Given the description of an element on the screen output the (x, y) to click on. 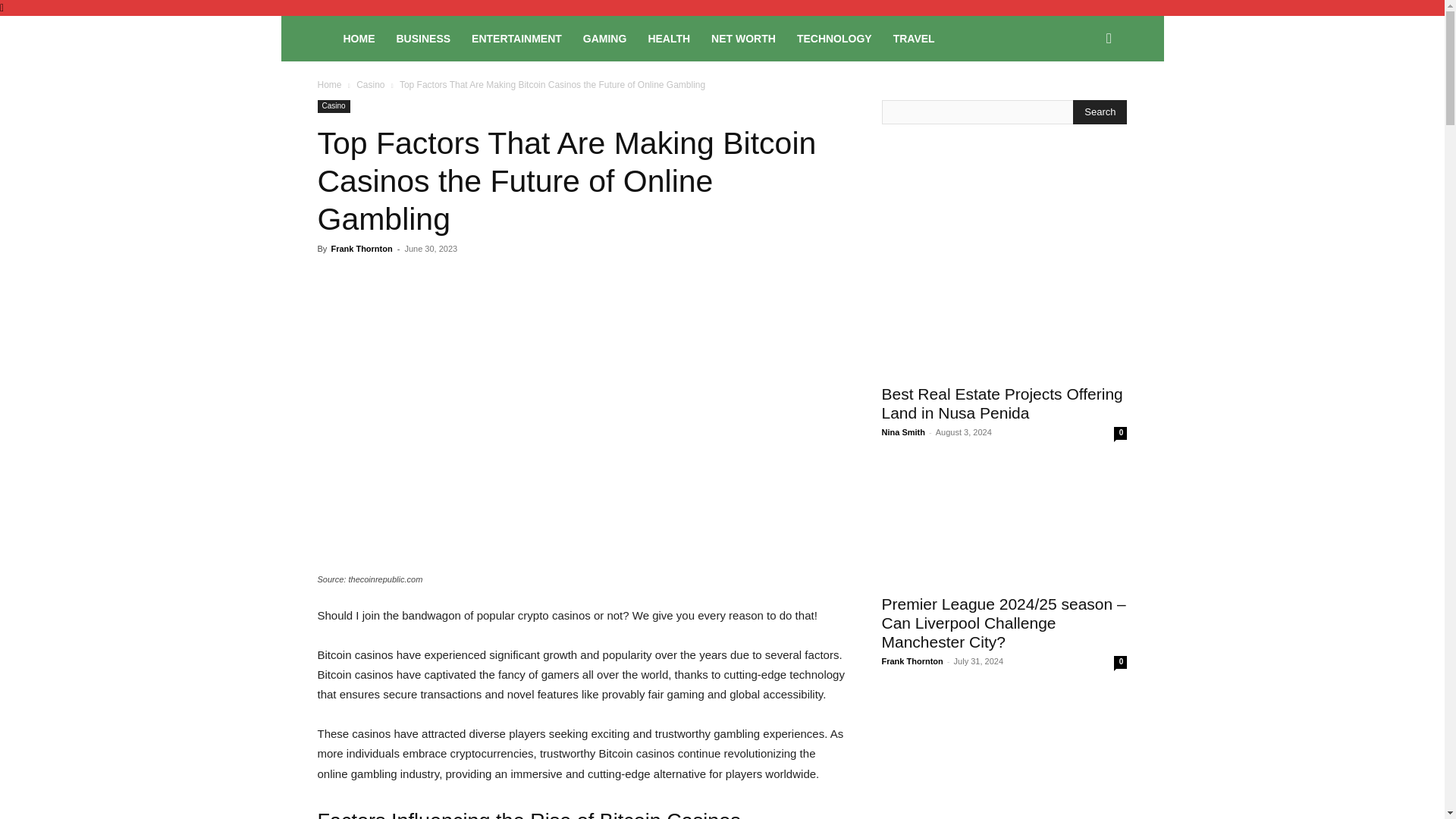
Search (1099, 111)
Frank Thornton (360, 248)
Casino (370, 84)
NET WORTH (743, 38)
Best Real Estate Projects Offering Land in Nusa Penida (1003, 313)
Casino (333, 106)
Search (1085, 103)
TECHNOLOGY (834, 38)
BUSINESS (423, 38)
HEALTH (668, 38)
ENTERTAINMENT (516, 38)
TRAVEL (913, 38)
Home (328, 84)
Best Real Estate Projects Offering Land in Nusa Penida (1001, 402)
GAMING (604, 38)
